Given the description of an element on the screen output the (x, y) to click on. 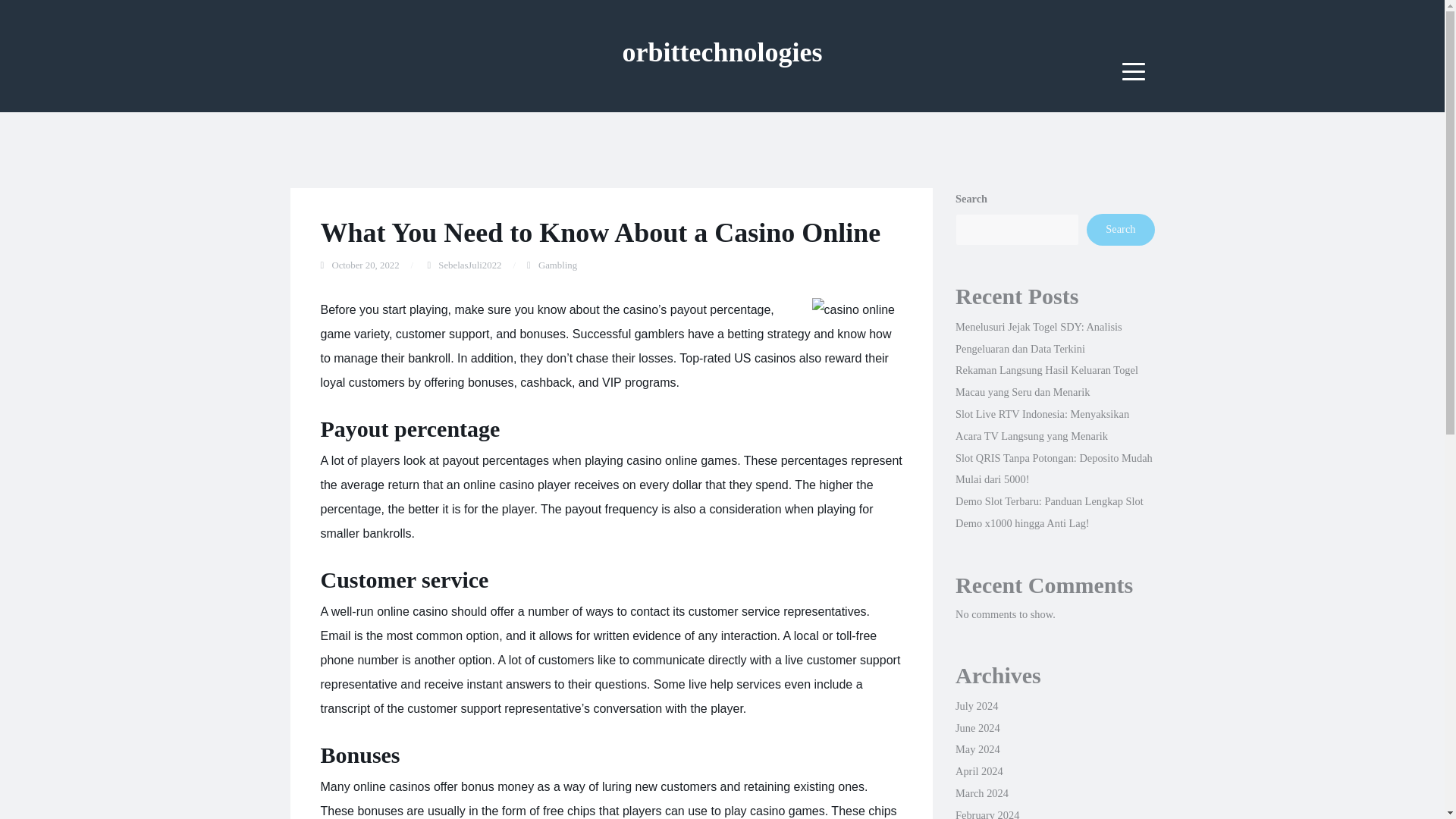
February 2024 (987, 814)
SebelasJuli2022 (469, 265)
May 2024 (977, 748)
Menu (1133, 71)
Gambling (557, 265)
April 2024 (979, 770)
March 2024 (982, 793)
October 20, 2022 (364, 265)
July 2024 (976, 705)
June 2024 (977, 727)
Search (1120, 229)
